Given the description of an element on the screen output the (x, y) to click on. 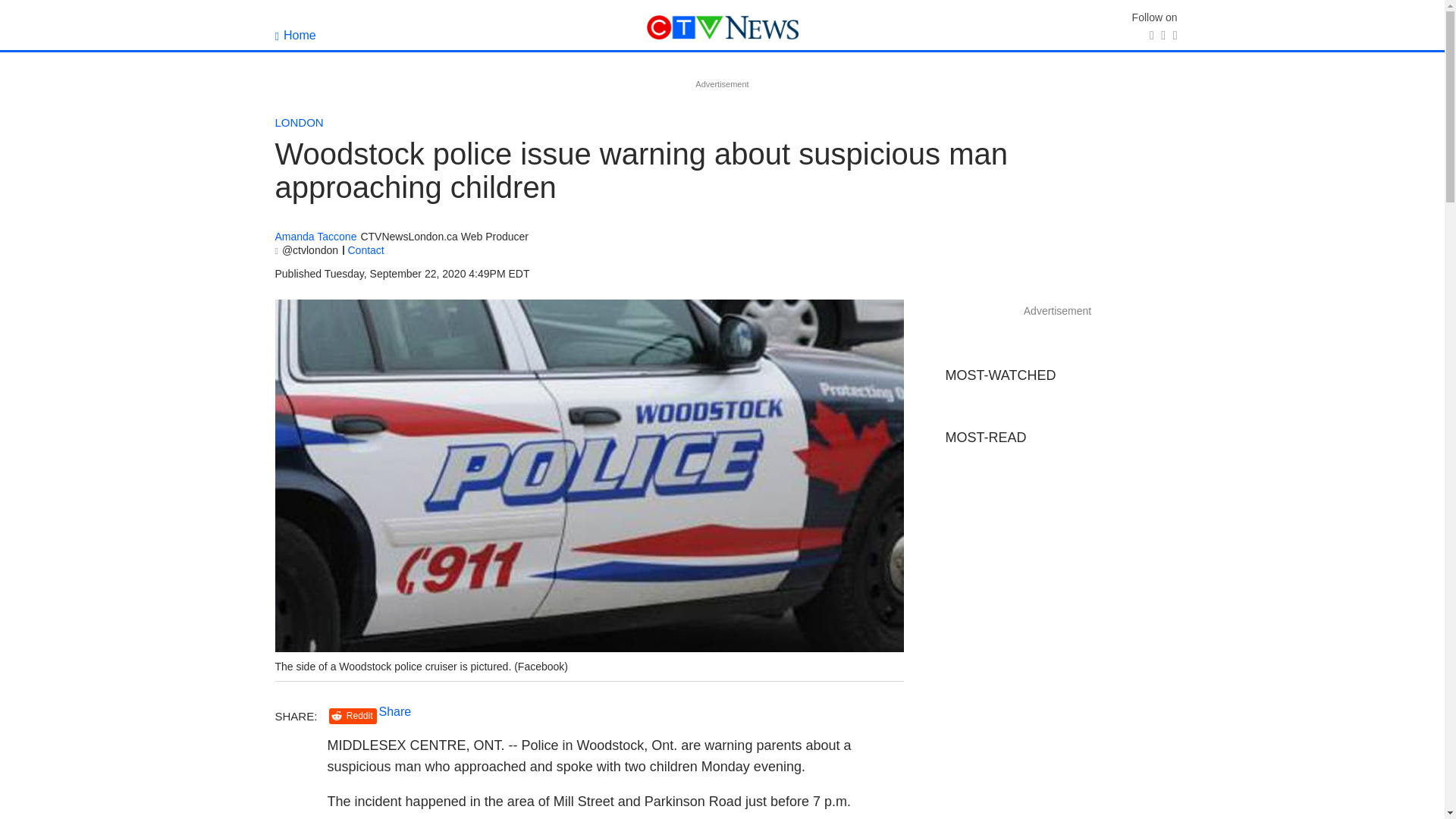
Contact (365, 250)
LONDON (299, 122)
Reddit (353, 715)
Home (295, 34)
Amanda Taccone (315, 236)
Share (395, 711)
